Given the description of an element on the screen output the (x, y) to click on. 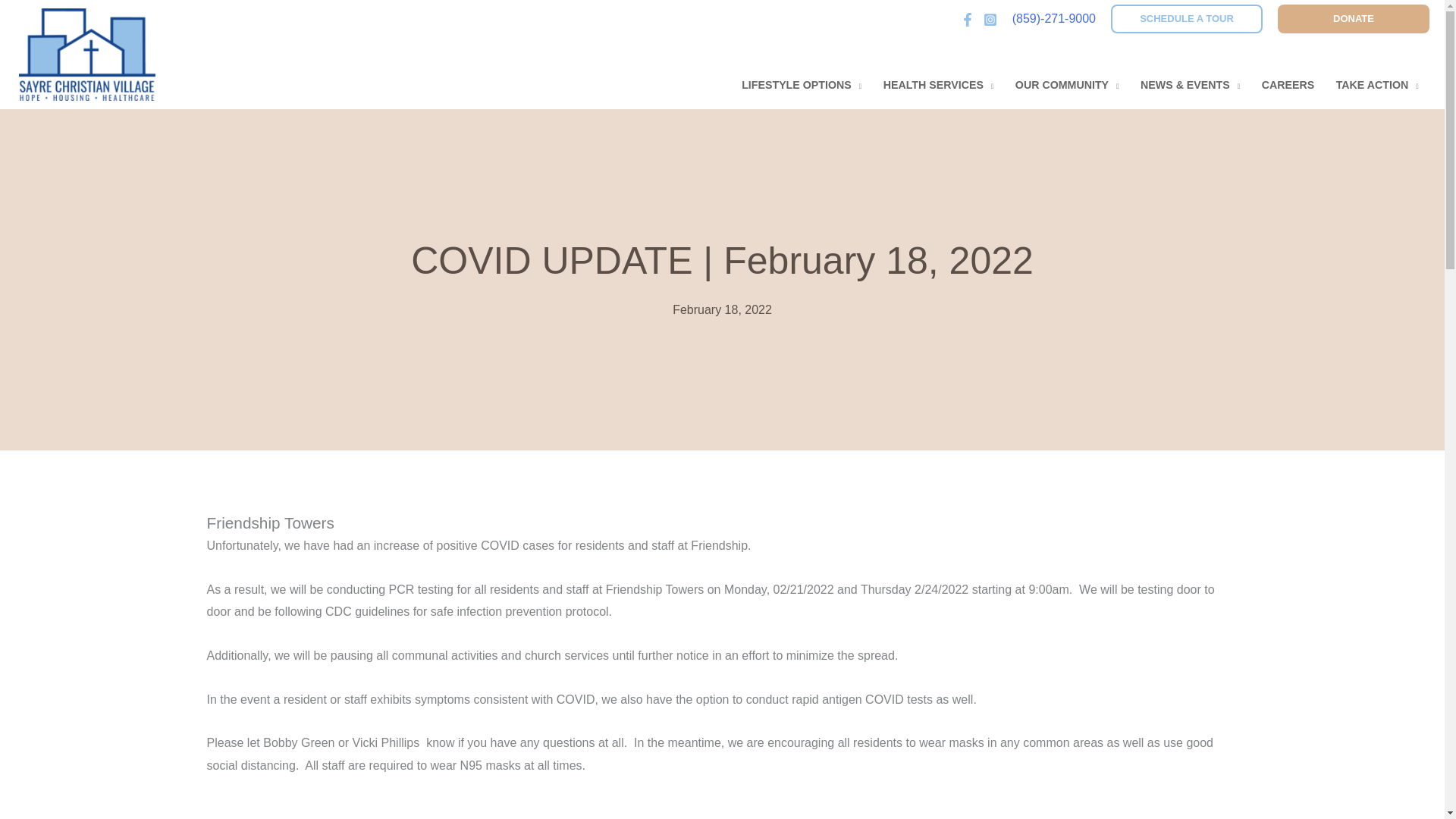
LIFESTYLE OPTIONS (801, 84)
OUR COMMUNITY (1066, 84)
CAREERS (1287, 84)
DONATE (1353, 18)
SCHEDULE A TOUR (1186, 18)
TAKE ACTION (1376, 84)
HEALTH SERVICES (938, 84)
